Given the description of an element on the screen output the (x, y) to click on. 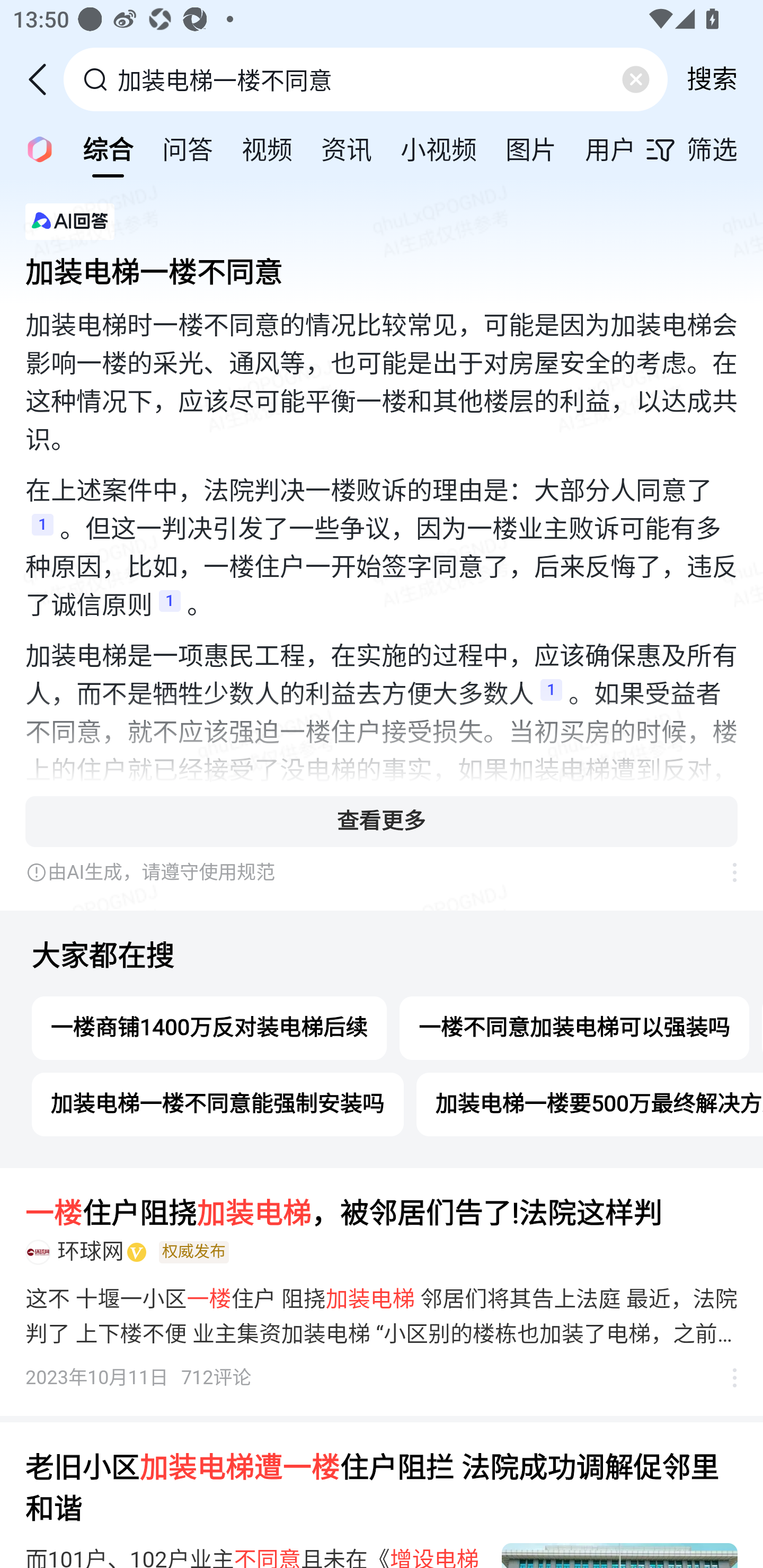
搜索框，加装电梯一楼不同意 (366, 79)
搜索 (711, 79)
返回 (44, 79)
清除 (635, 79)
问答 (187, 148)
视频 (266, 148)
资讯 (346, 148)
小视频 (438, 148)
图片 (530, 148)
用户 (610, 148)
筛选 (703, 149)
AI问答 (34, 148)
1 (42, 529)
1 (169, 605)
1 (551, 694)
查看更多 (381, 821)
由AI生成，请遵守使用规范 (368, 872)
举报反馈 (724, 872)
2023年10月11日 712评论 (138, 1377)
举报反馈 (724, 1377)
